Given the description of an element on the screen output the (x, y) to click on. 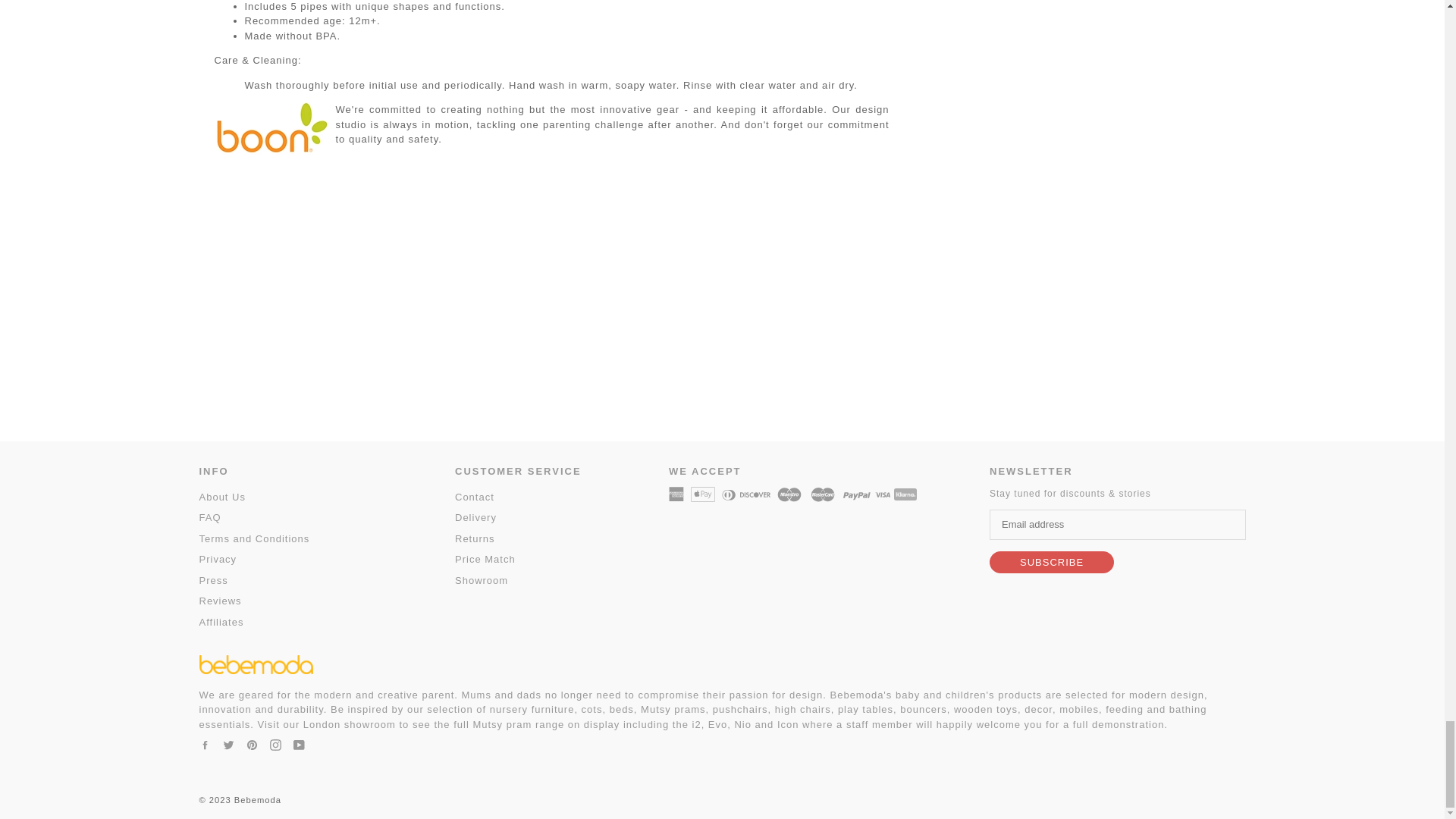
Bebemoda on Instagram (274, 744)
Bebemoda on Twitter (228, 744)
Bebemoda on Facebook (203, 744)
Bebemoda on YouTube (298, 744)
Bebemoda on Pinterest (251, 744)
